Given the description of an element on the screen output the (x, y) to click on. 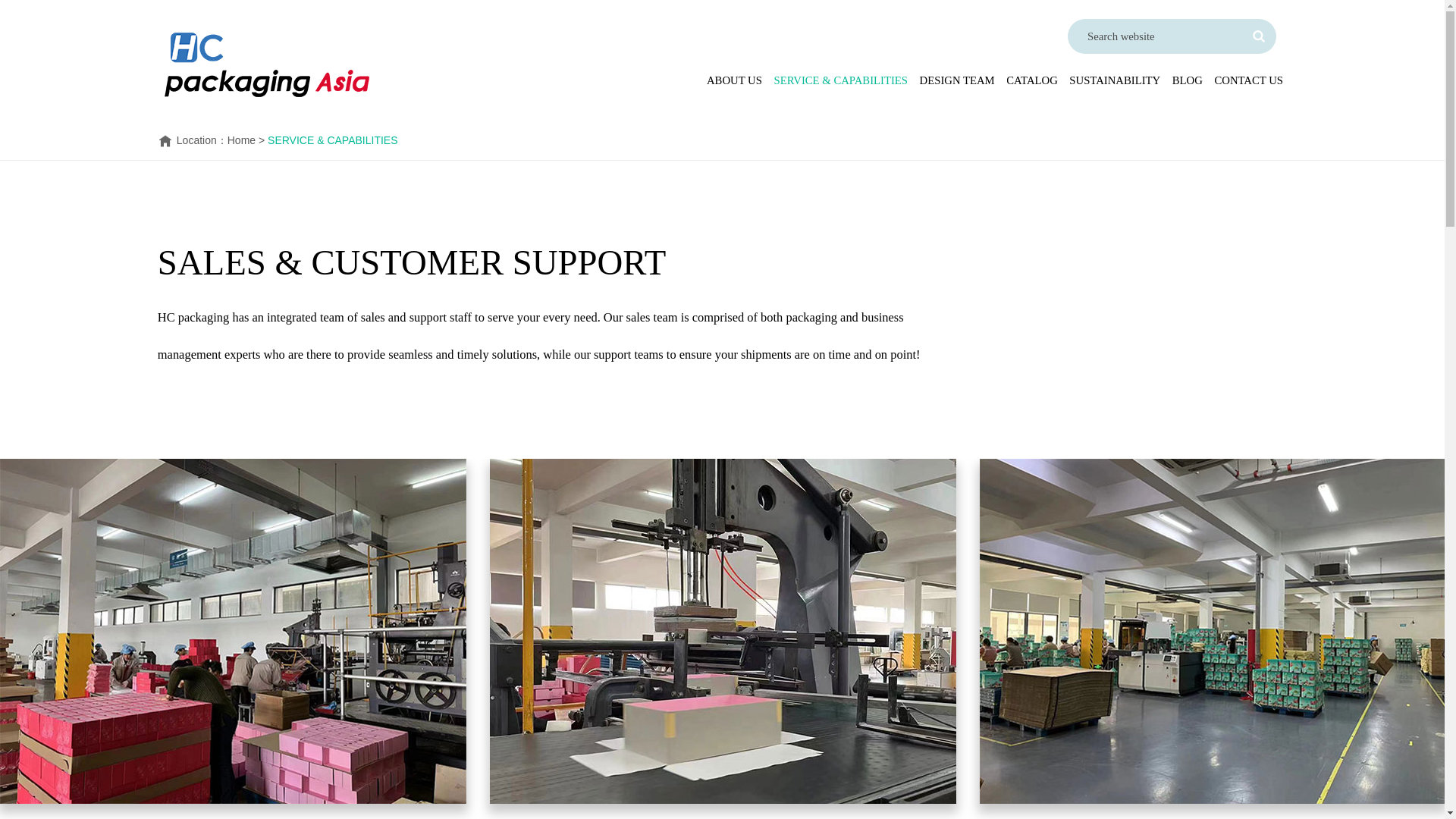
ABOUT US (733, 80)
CATALOG (1032, 80)
HC packaging Asia (273, 64)
BLOG (1187, 80)
Home (241, 140)
ABOUT US (733, 80)
SUSTAINABILITY (1114, 80)
SUSTAINABILITY (1114, 80)
CONTACT US (1248, 80)
CATALOG (1032, 80)
